Given the description of an element on the screen output the (x, y) to click on. 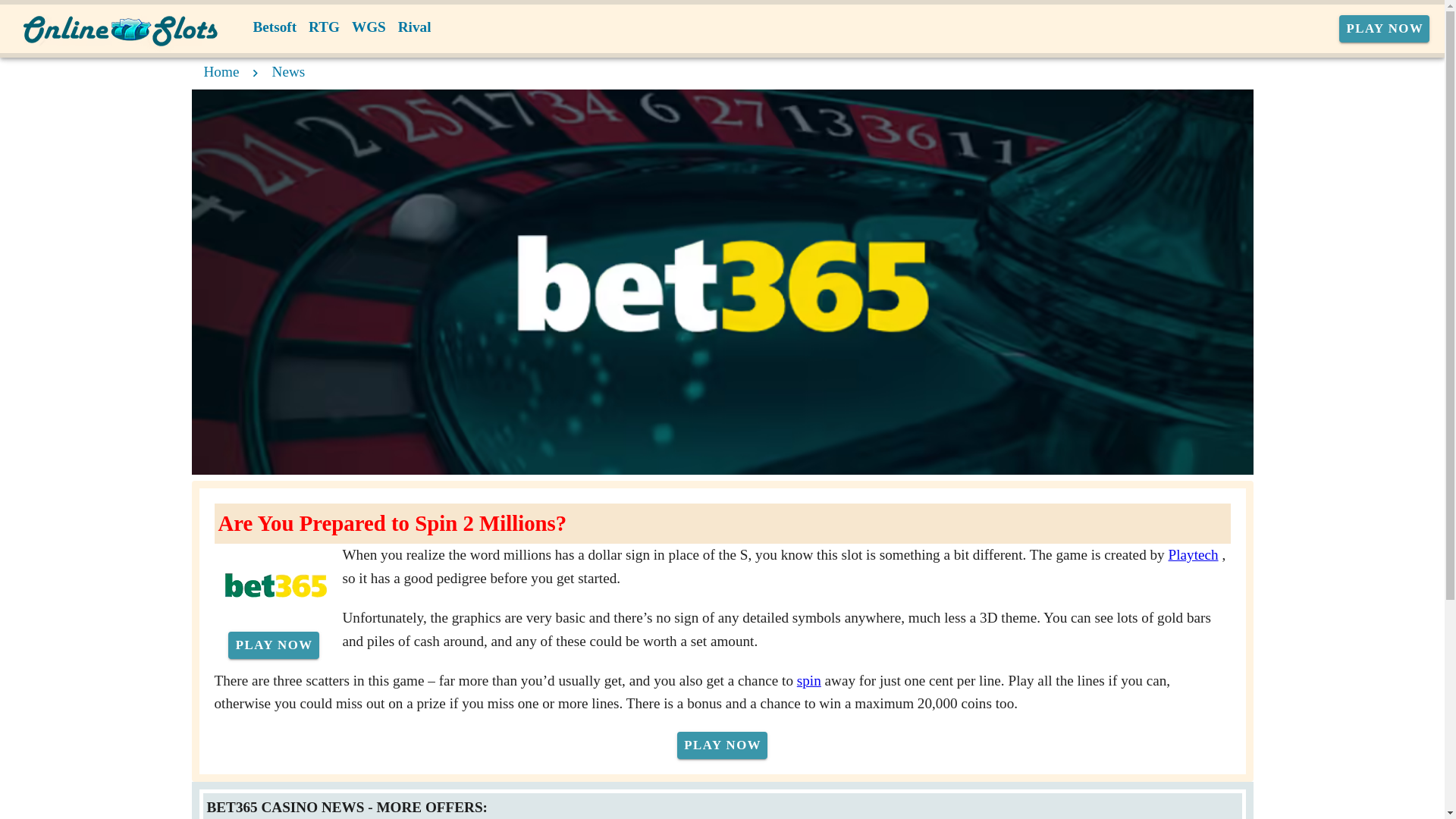
PLAY NOW (273, 645)
Home (220, 71)
PLAY NOW (722, 745)
PLAY NOW (1384, 28)
spin (808, 679)
Betsoft (274, 27)
RTG (324, 27)
Playtech (1193, 554)
News (288, 71)
Rival (414, 27)
WGS (368, 27)
